Given the description of an element on the screen output the (x, y) to click on. 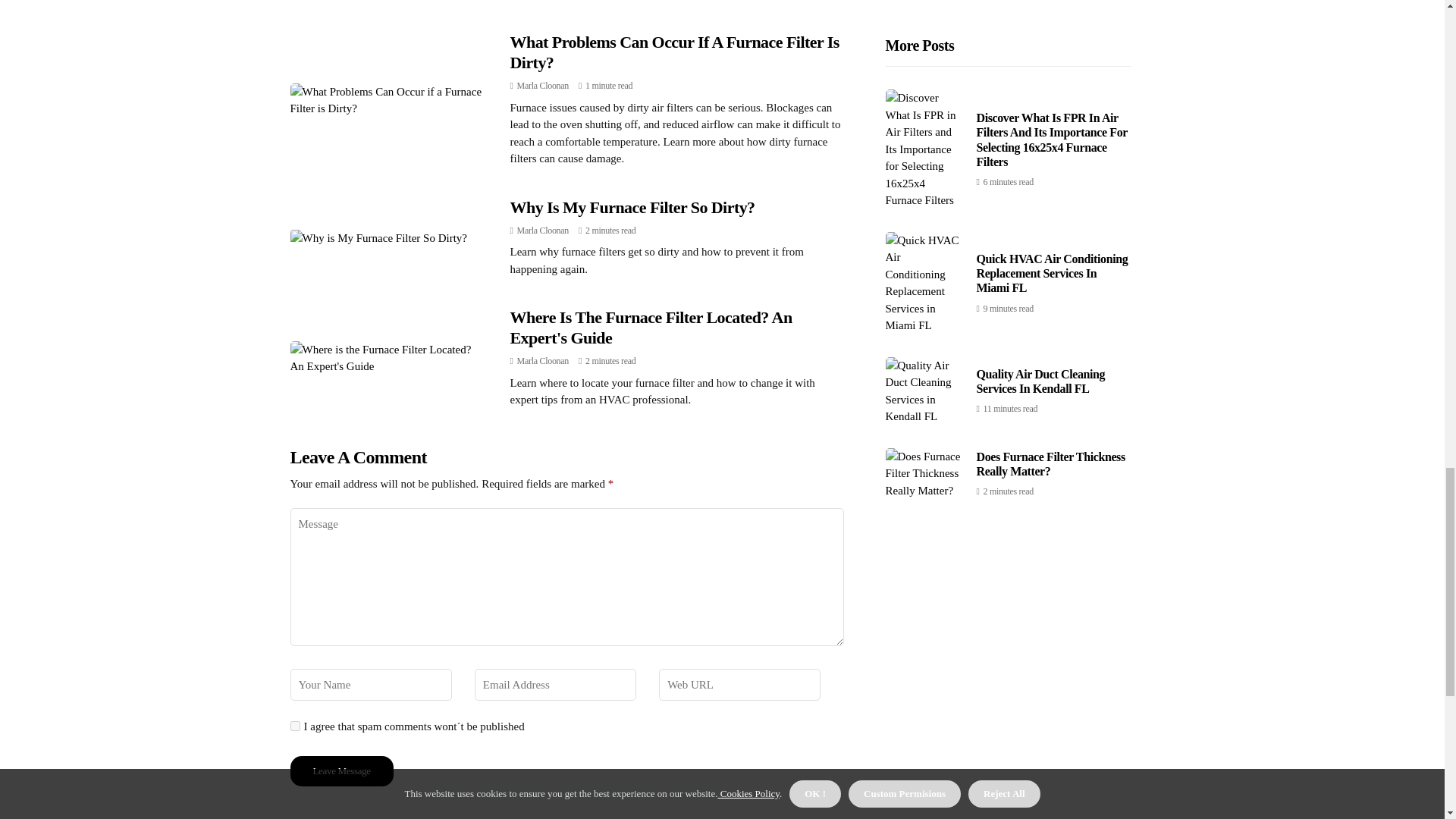
Where Is The Furnace Filter Located? An Expert'S Guide (650, 326)
Why Is My Furnace Filter So Dirty? (631, 207)
Posts by Marla Cloonan (542, 230)
Posts by Marla Cloonan (542, 85)
yes (294, 726)
Posts by Marla Cloonan (542, 360)
Marla Cloonan (542, 230)
What Problems Can Occur If A Furnace Filter Is Dirty? (673, 51)
Marla Cloonan (542, 360)
Marla Cloonan (542, 85)
